Given the description of an element on the screen output the (x, y) to click on. 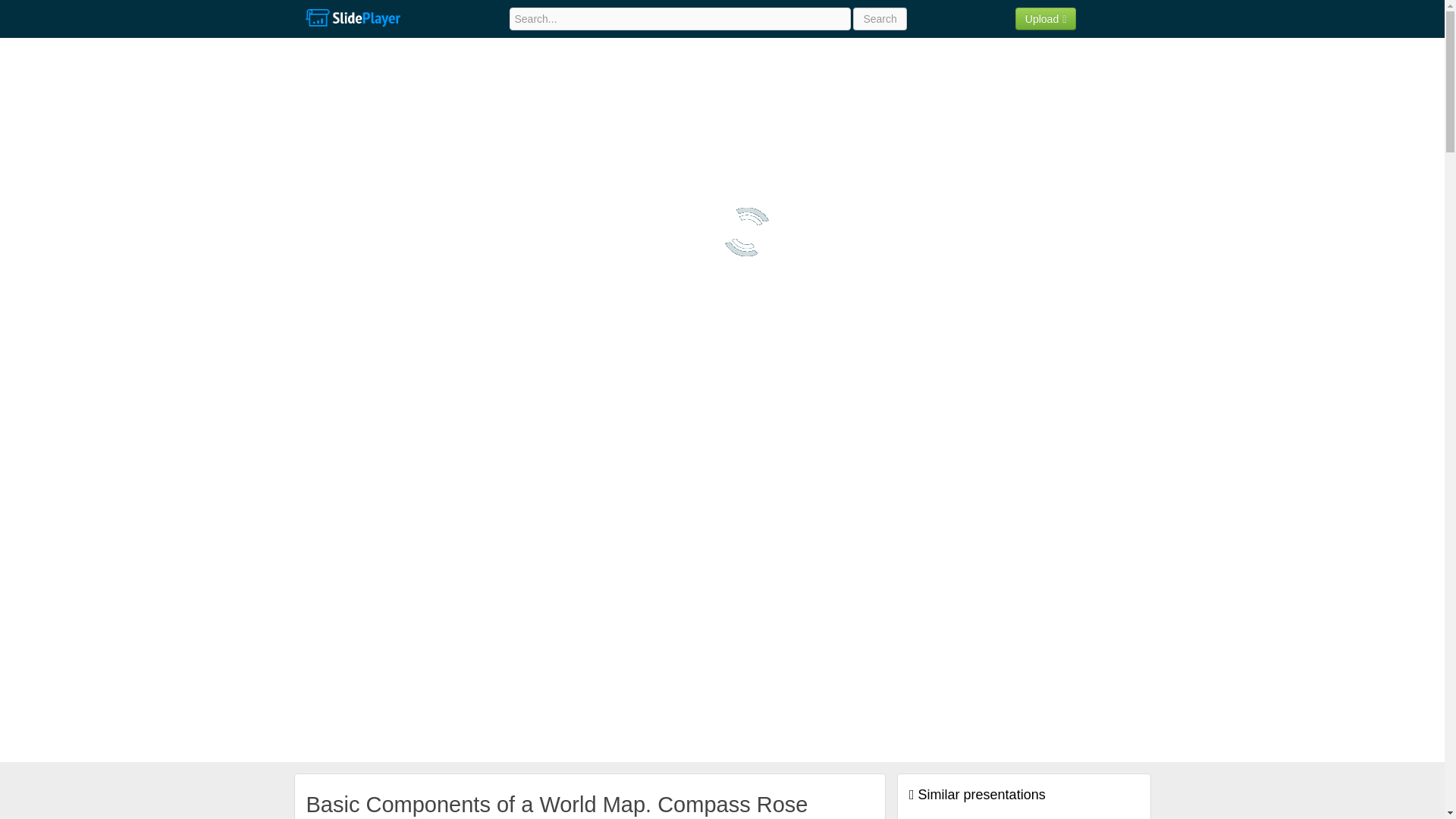
Search (879, 18)
SlidePlayer (352, 18)
Presentation is loading. Please wait. (746, 232)
Upload (1045, 18)
